Given the description of an element on the screen output the (x, y) to click on. 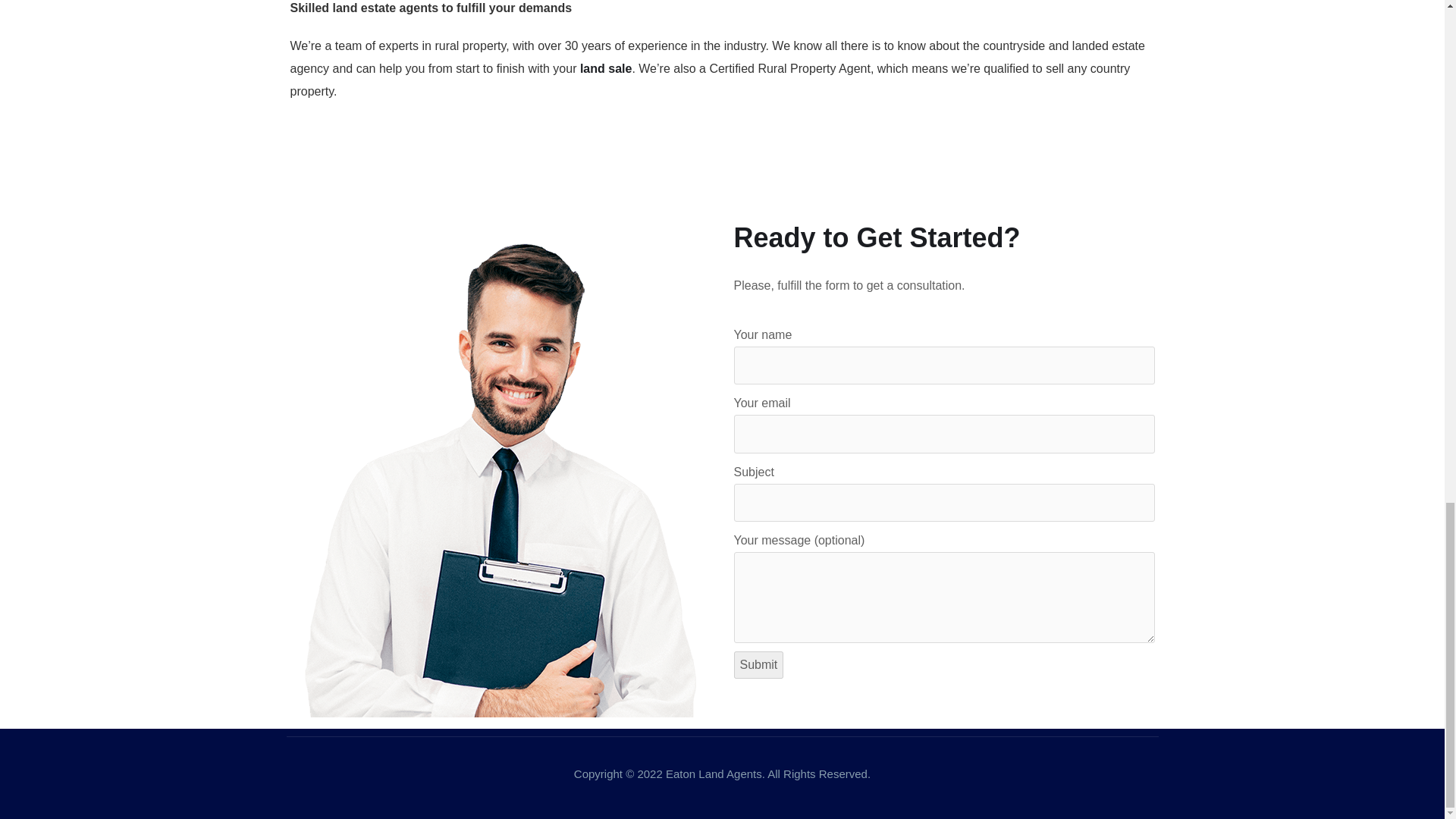
Submit (758, 664)
land sale (605, 68)
Submit (758, 664)
